Given the description of an element on the screen output the (x, y) to click on. 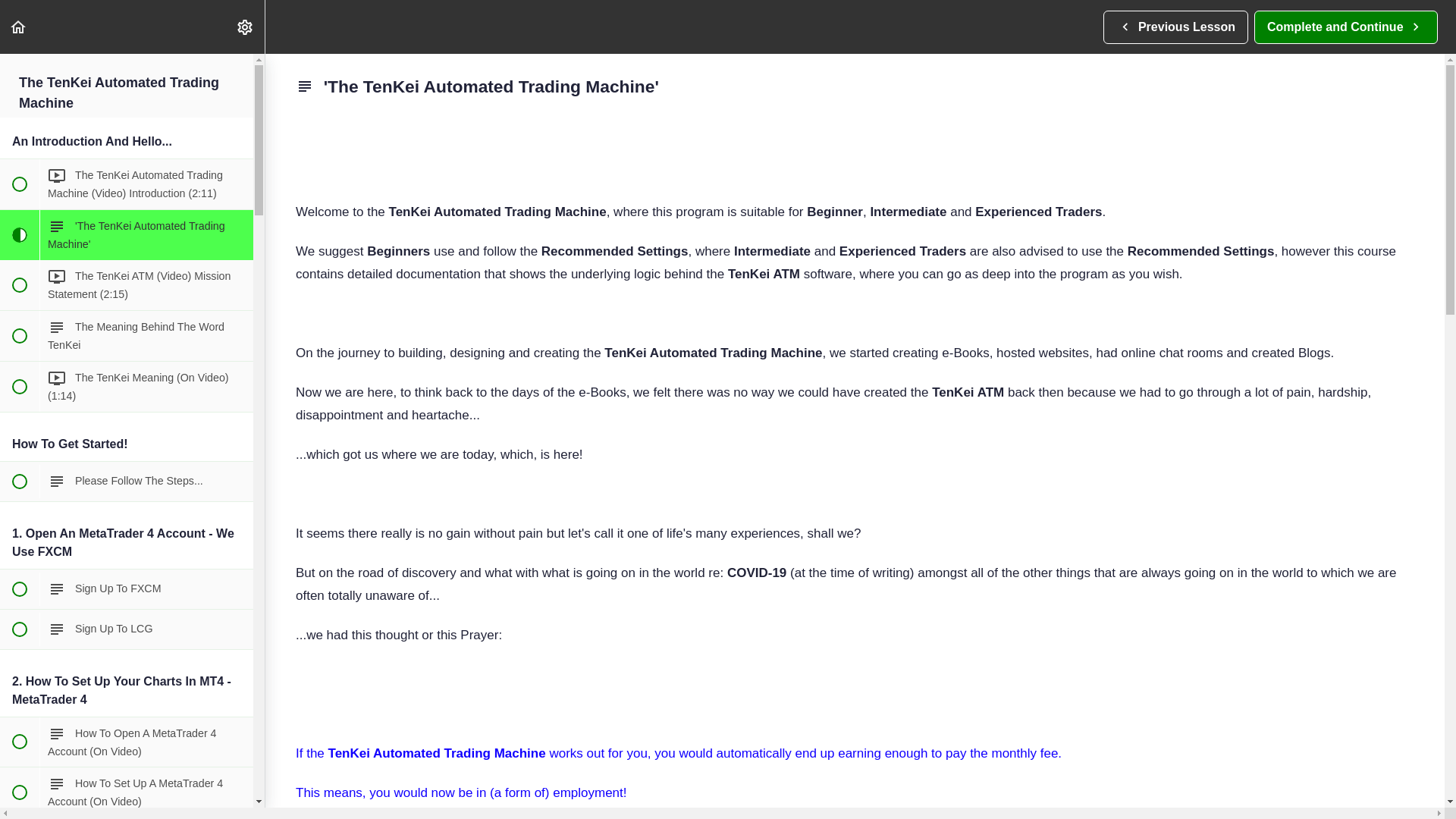
Settings Menu (244, 27)
  Sign Up To LCG (126, 629)
  Please Follow The Steps... (1345, 27)
  Sign Up To FXCM (126, 481)
  Previous Lesson (126, 589)
  The Meaning Behind The Word TenKei (1175, 27)
  'The TenKei Automated Trading Machine' (126, 336)
Back to course curriculum (126, 234)
